Given the description of an element on the screen output the (x, y) to click on. 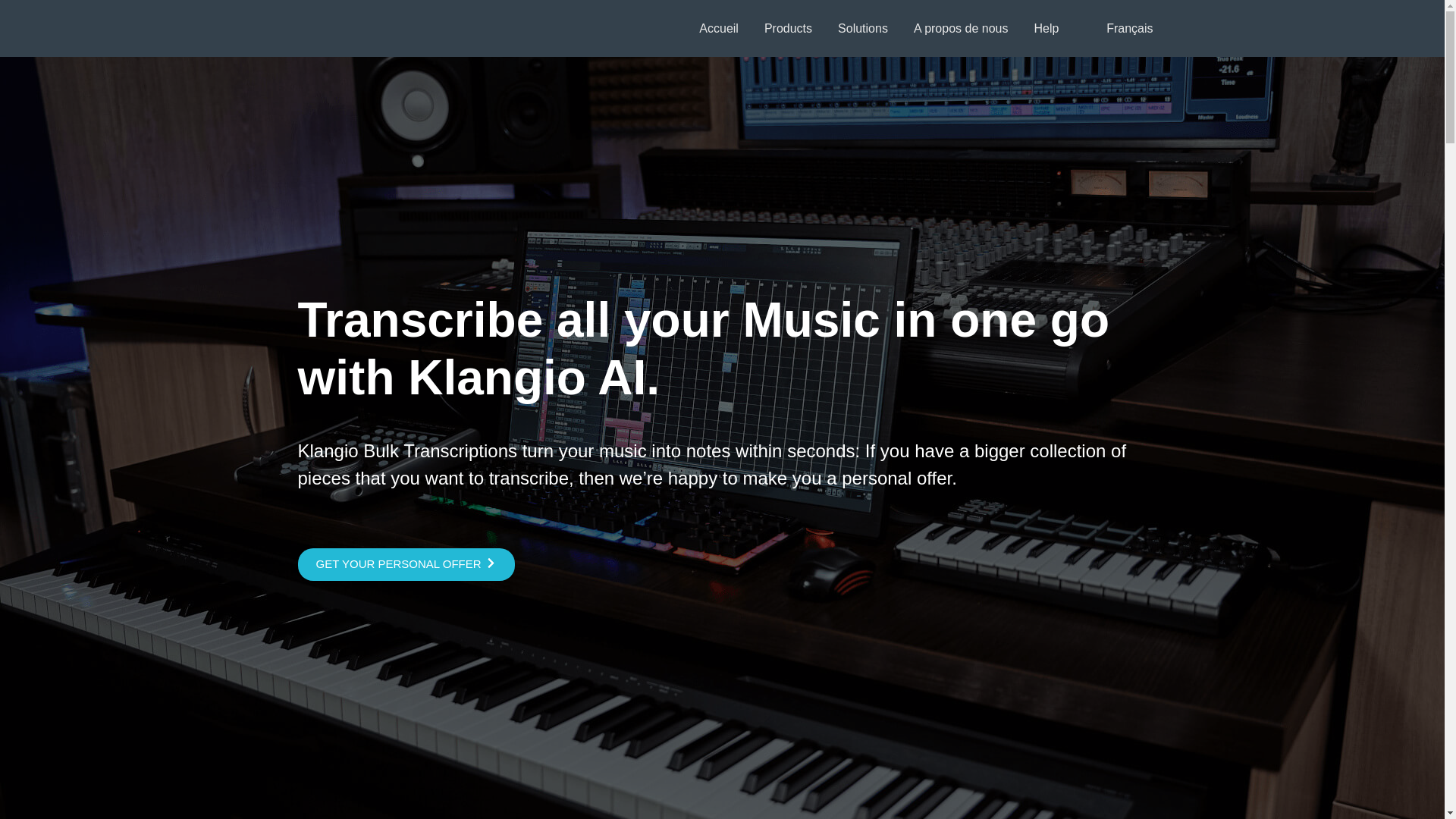
A propos de nous (961, 28)
Solutions (862, 28)
Products (787, 28)
